Given the description of an element on the screen output the (x, y) to click on. 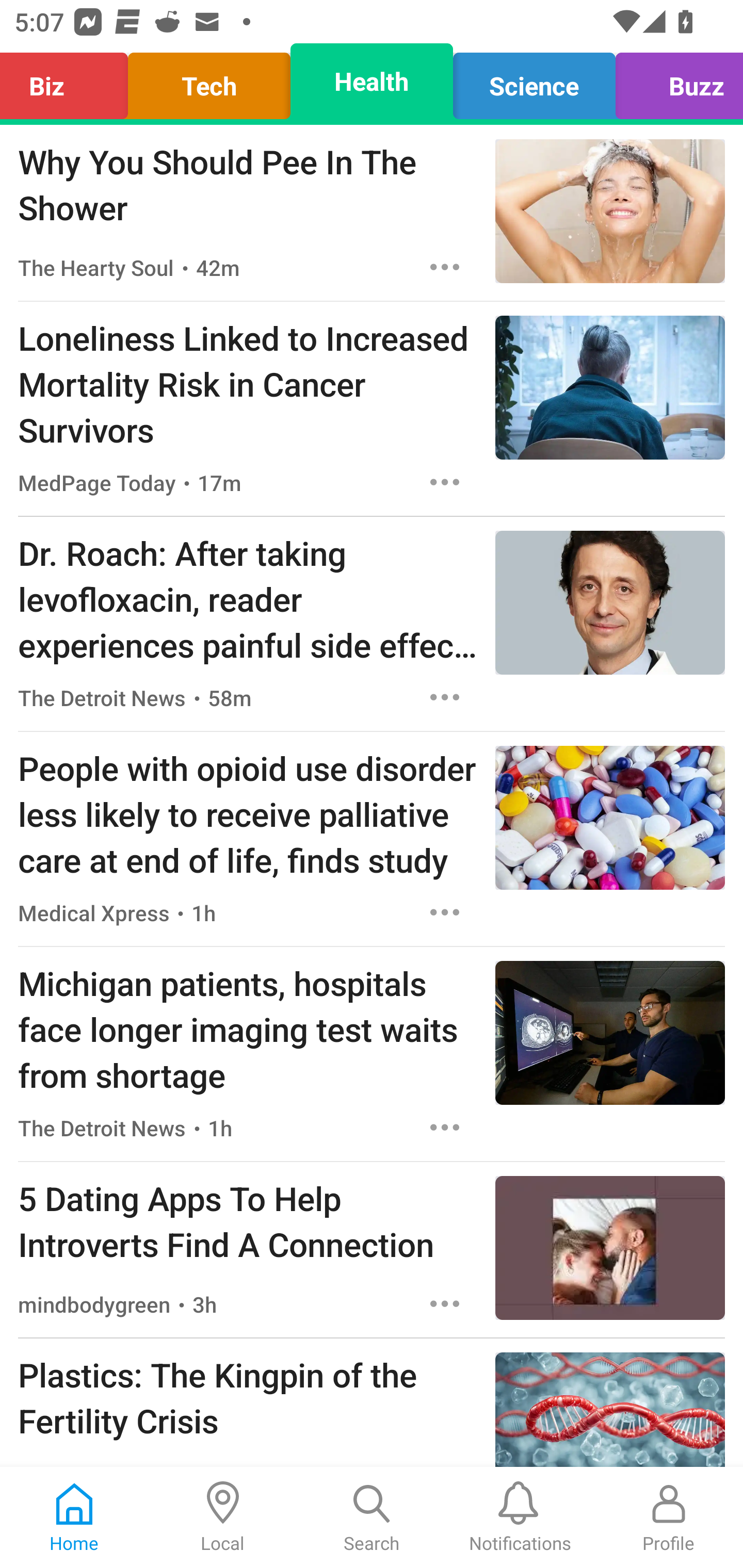
Biz (69, 81)
Tech (209, 81)
Health (371, 81)
Science (534, 81)
Buzz (673, 81)
Options (444, 267)
Options (444, 481)
Options (444, 697)
Options (444, 912)
Options (444, 1127)
Options (444, 1303)
Local (222, 1517)
Search (371, 1517)
Notifications (519, 1517)
Profile (668, 1517)
